Given the description of an element on the screen output the (x, y) to click on. 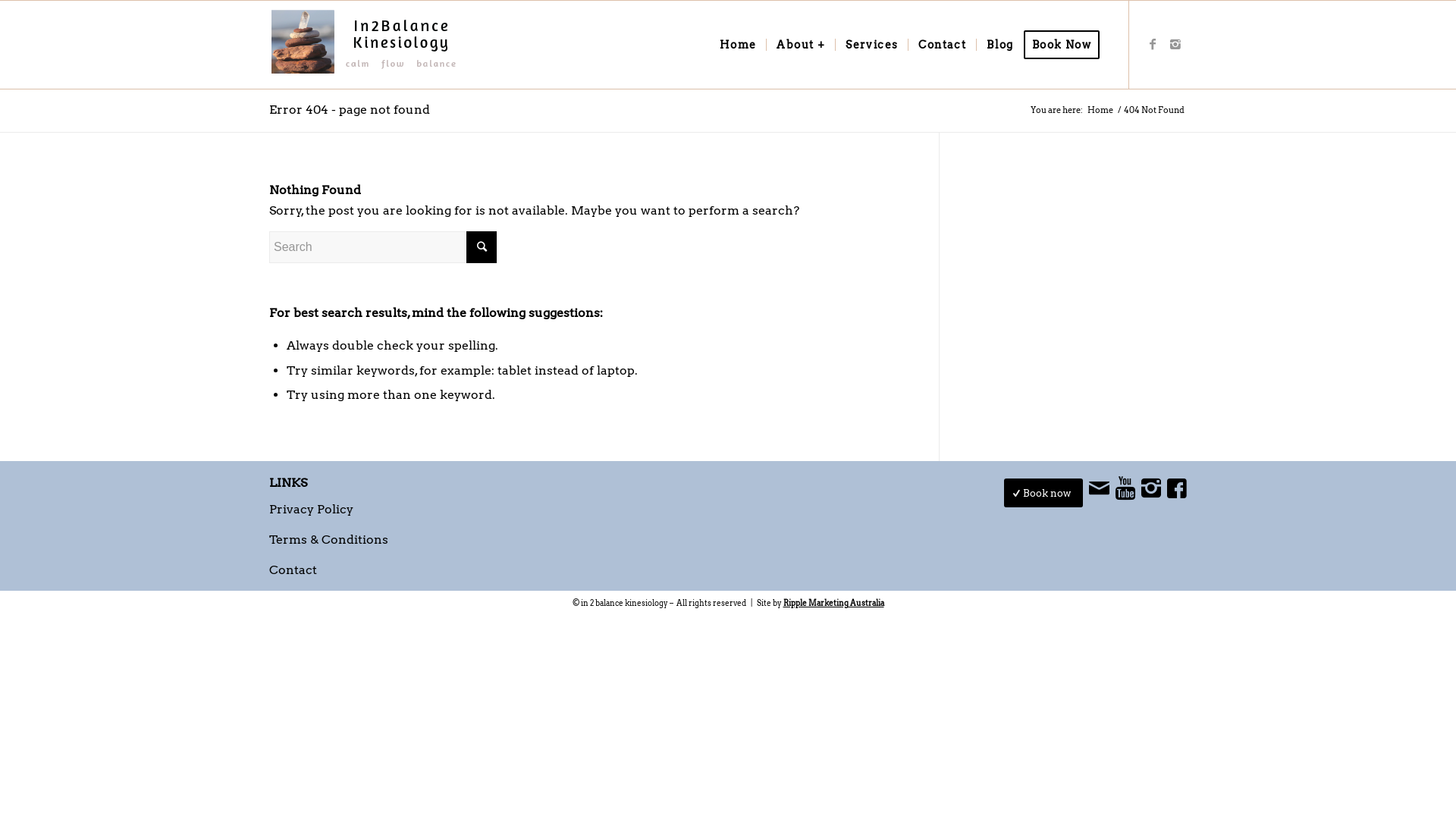
Facebook Element type: hover (1152, 43)
Home Element type: text (1100, 110)
Contact Element type: text (941, 44)
Book now Element type: text (1043, 493)
Privacy Policy Element type: text (311, 509)
Terms & Conditions Element type: text (328, 539)
Ripple Marketing Australia Element type: text (832, 602)
Services Element type: text (870, 44)
Book Now Element type: text (1066, 44)
Blog Element type: text (999, 44)
Instagram Element type: hover (1175, 43)
Home Element type: text (737, 44)
About + Element type: text (799, 44)
Contact Element type: text (292, 569)
